Given the description of an element on the screen output the (x, y) to click on. 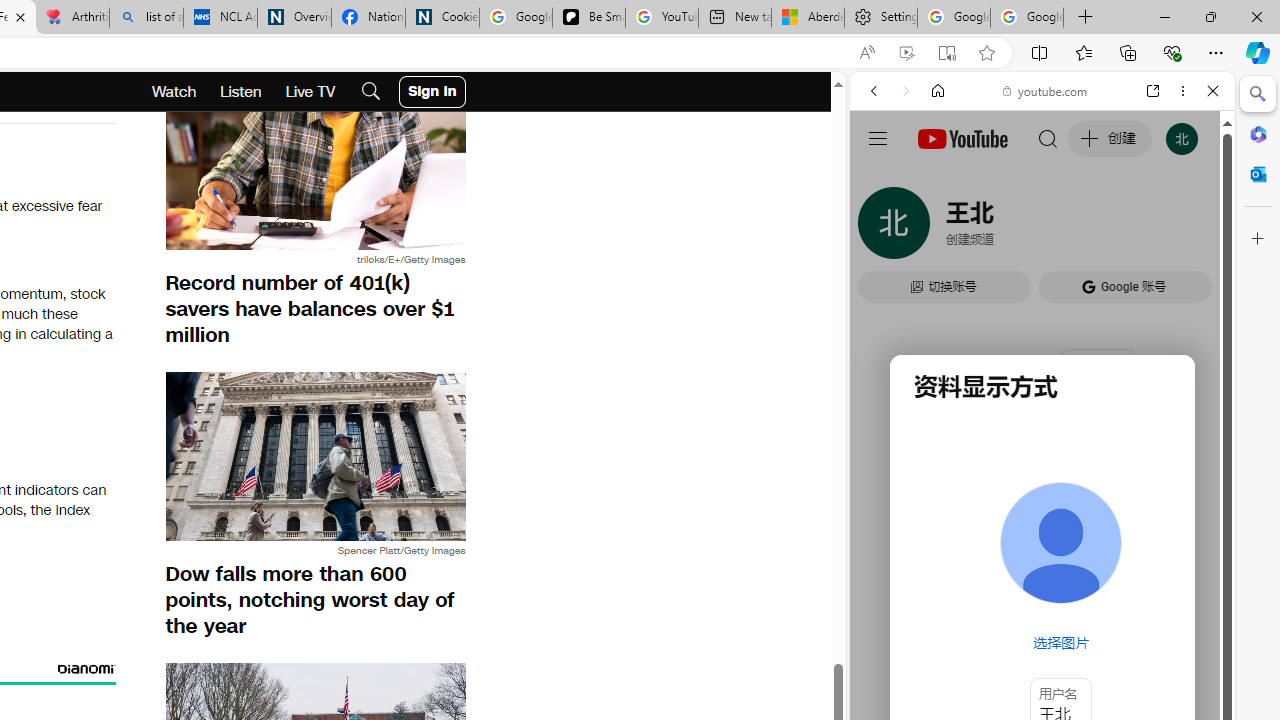
Forward (906, 91)
#you (1042, 445)
Search Filter, Search Tools (1093, 228)
